Given the description of an element on the screen output the (x, y) to click on. 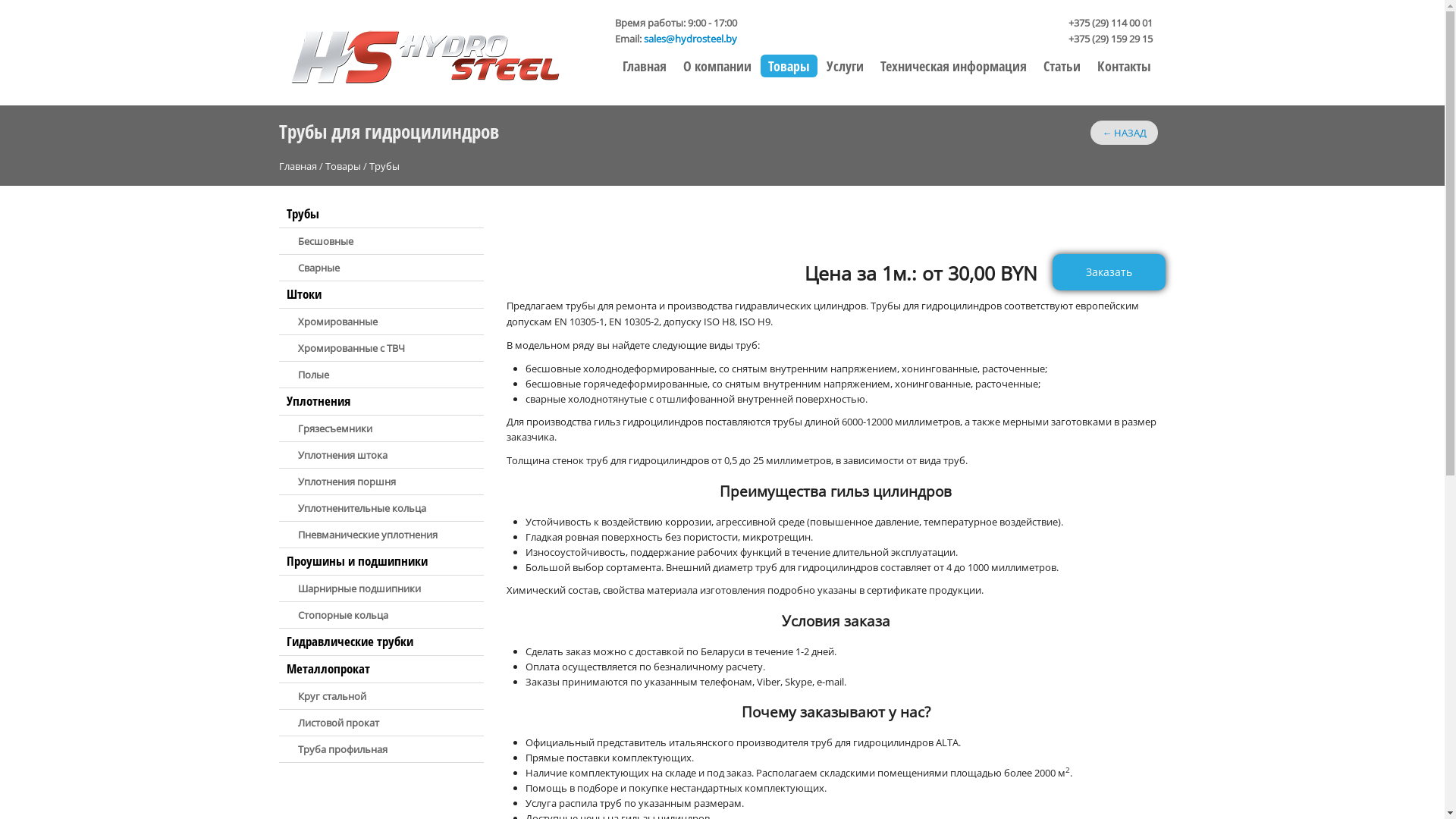
+375 (29) 114 00 01 Element type: text (1109, 22)
sales@hydrosteel.by Element type: text (689, 38)
+375 (29) 159 29 15 Element type: text (1109, 38)
